Given the description of an element on the screen output the (x, y) to click on. 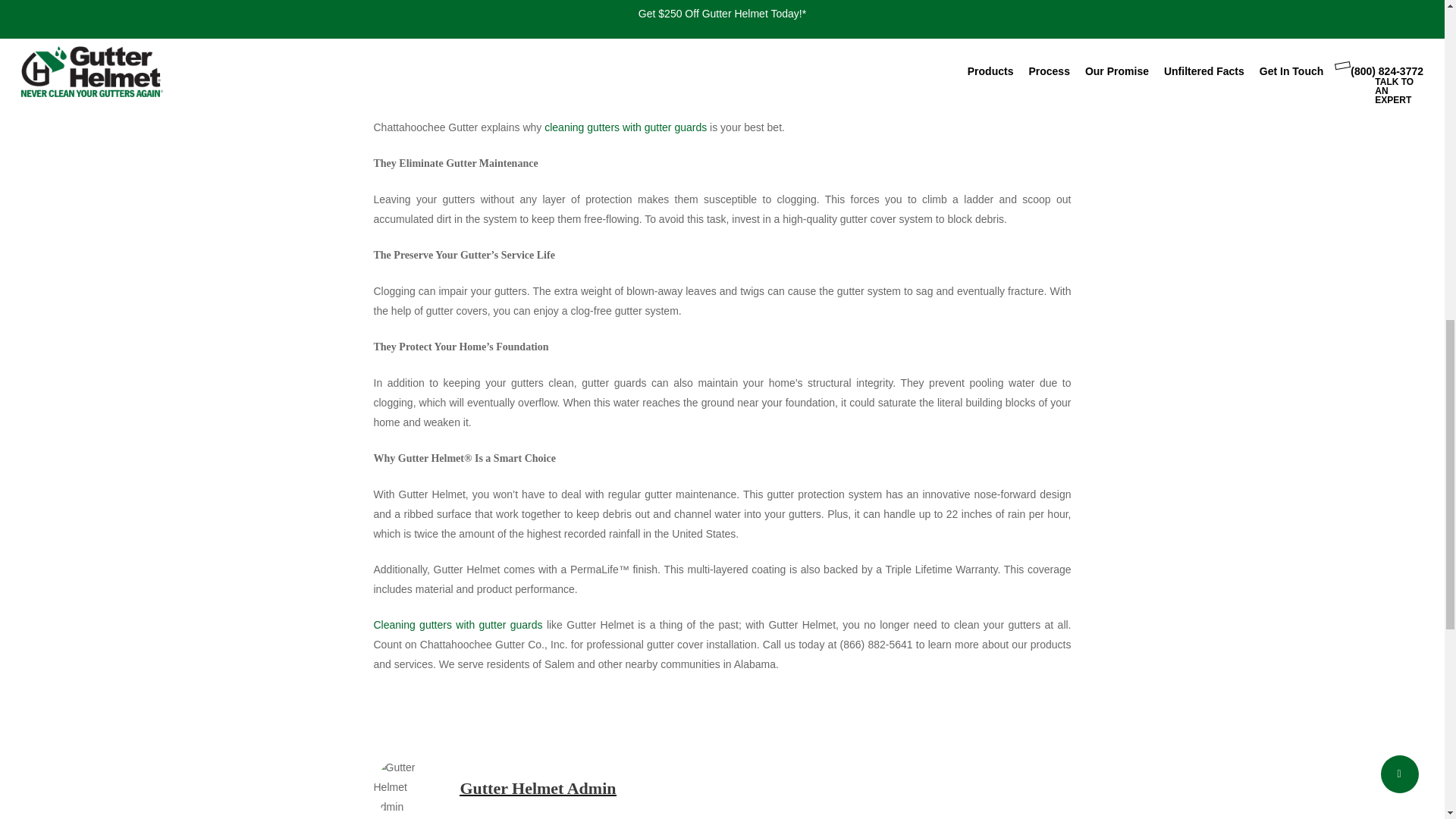
Cleaning a Gutter Vs. Gutter Guards (721, 45)
Gutter Helmet Admin (537, 787)
cleaning gutters with gutter guards (625, 127)
Cleaning gutters with gutter guards (456, 624)
